Given the description of an element on the screen output the (x, y) to click on. 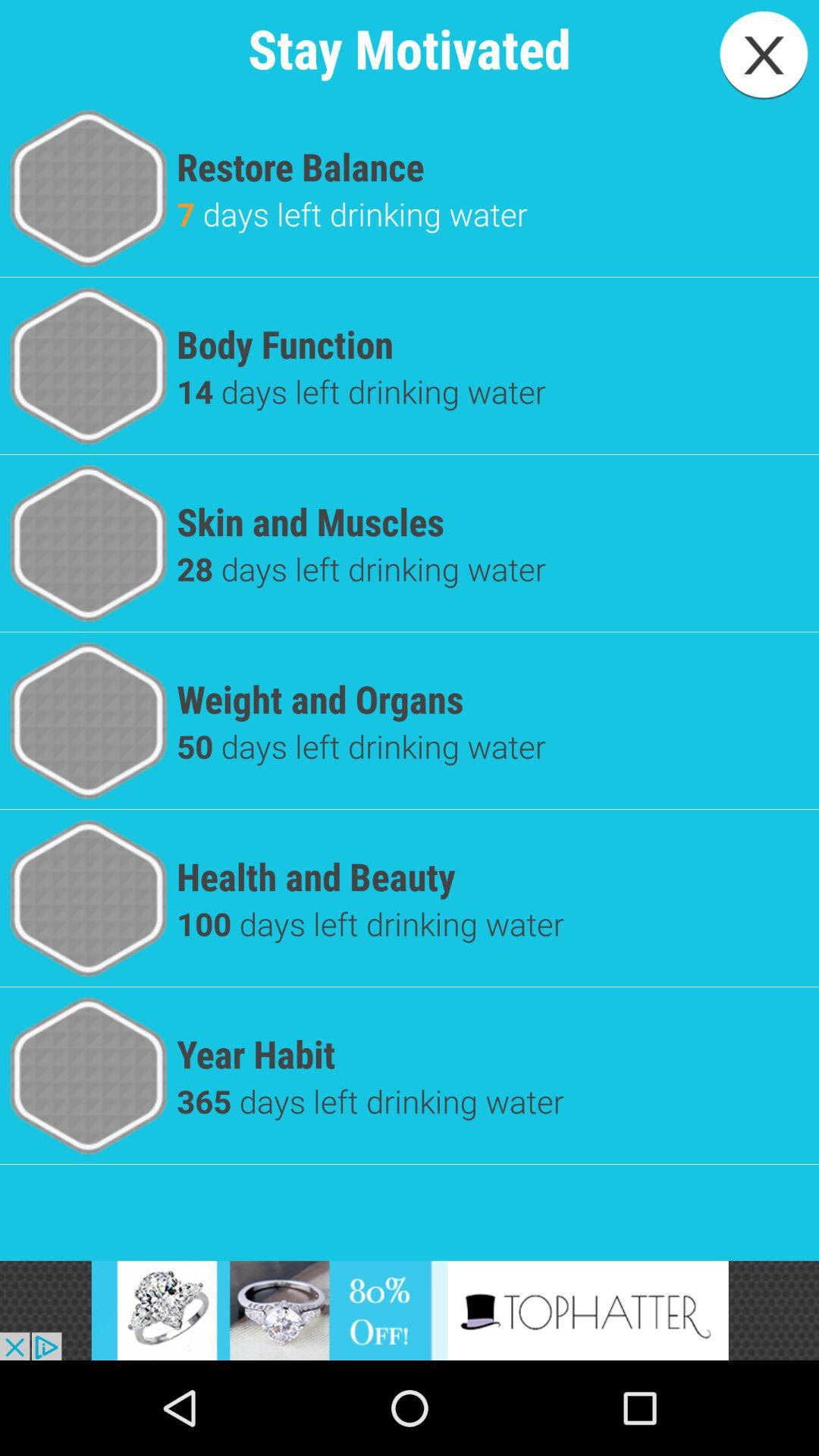
close app (763, 55)
